Given the description of an element on the screen output the (x, y) to click on. 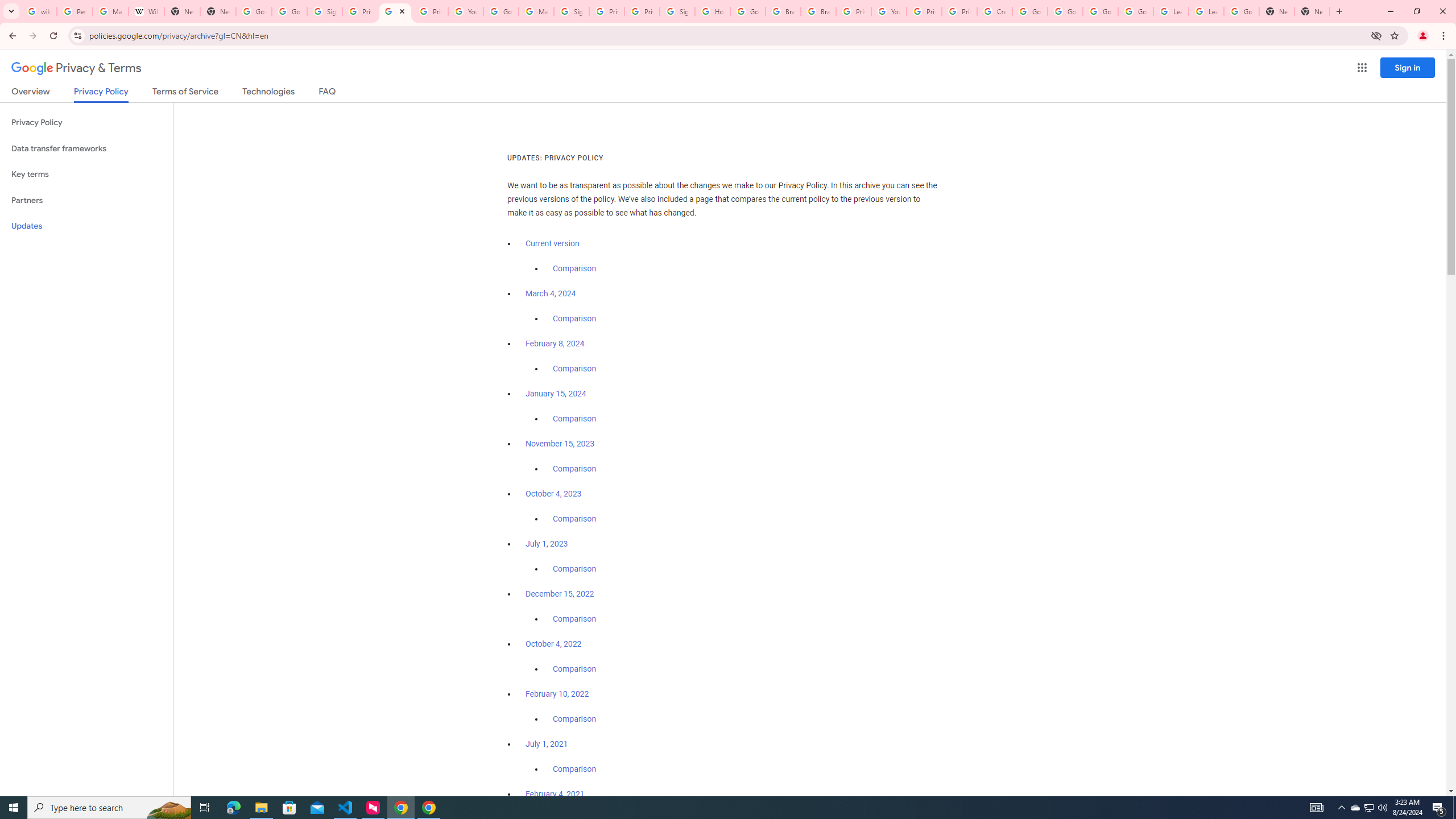
Partners (86, 199)
Google Account (1240, 11)
Brand Resource Center (783, 11)
Wikipedia:Edit requests - Wikipedia (145, 11)
Google Account Help (1099, 11)
